Given the description of an element on the screen output the (x, y) to click on. 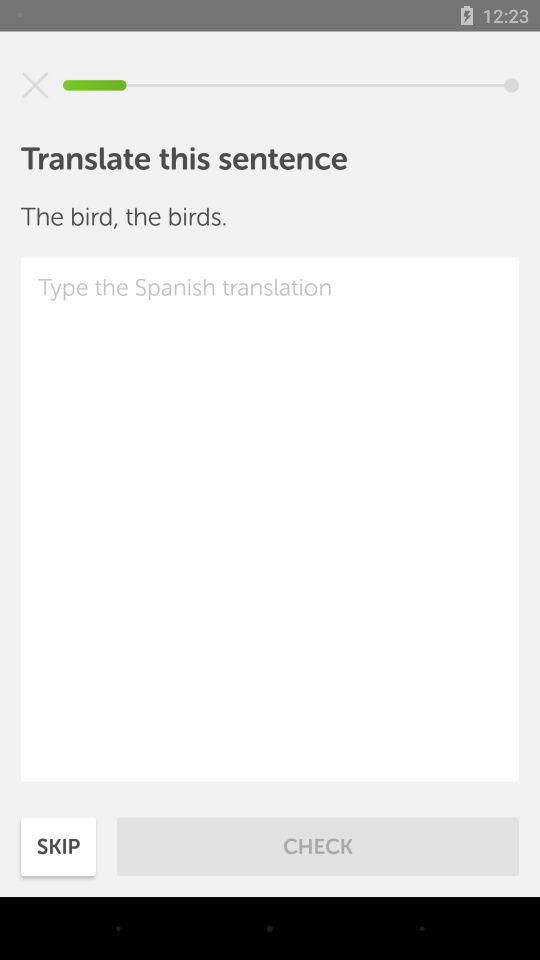
turn on icon to the right of skip (318, 846)
